Given the description of an element on the screen output the (x, y) to click on. 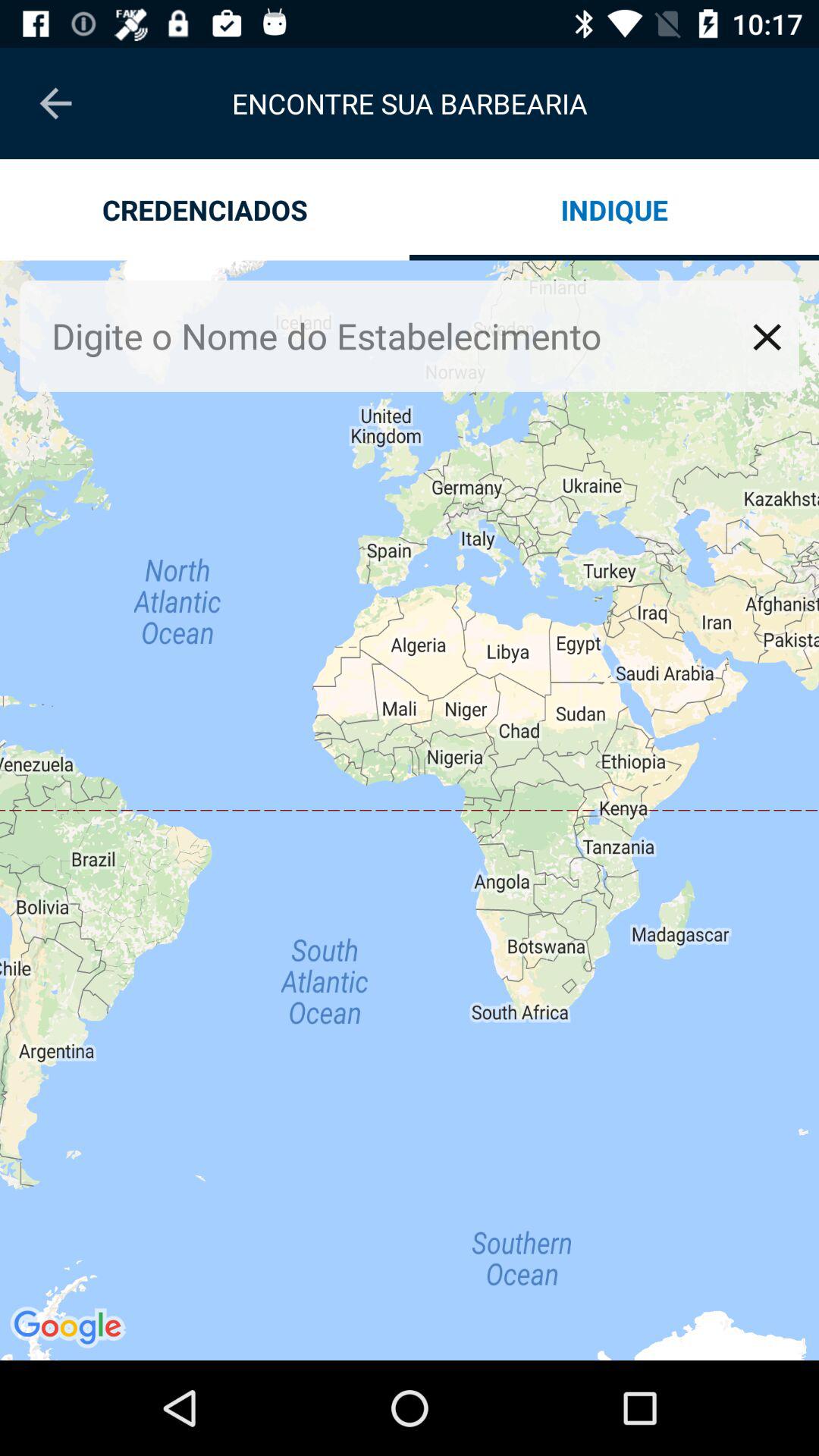
click icon at the center (409, 810)
